Given the description of an element on the screen output the (x, y) to click on. 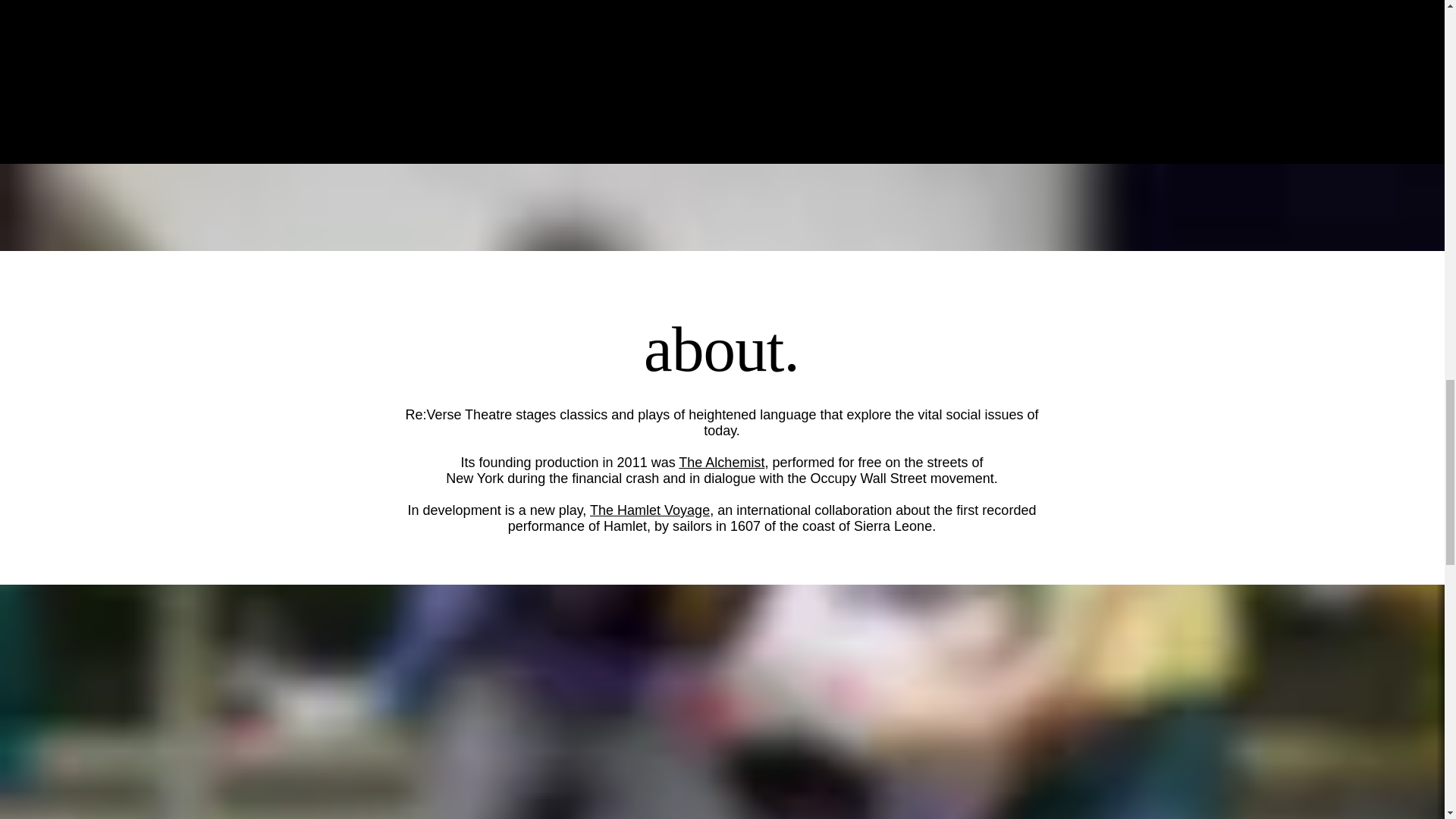
The Hamlet Voyage (649, 509)
The Alchemist (721, 462)
